Given the description of an element on the screen output the (x, y) to click on. 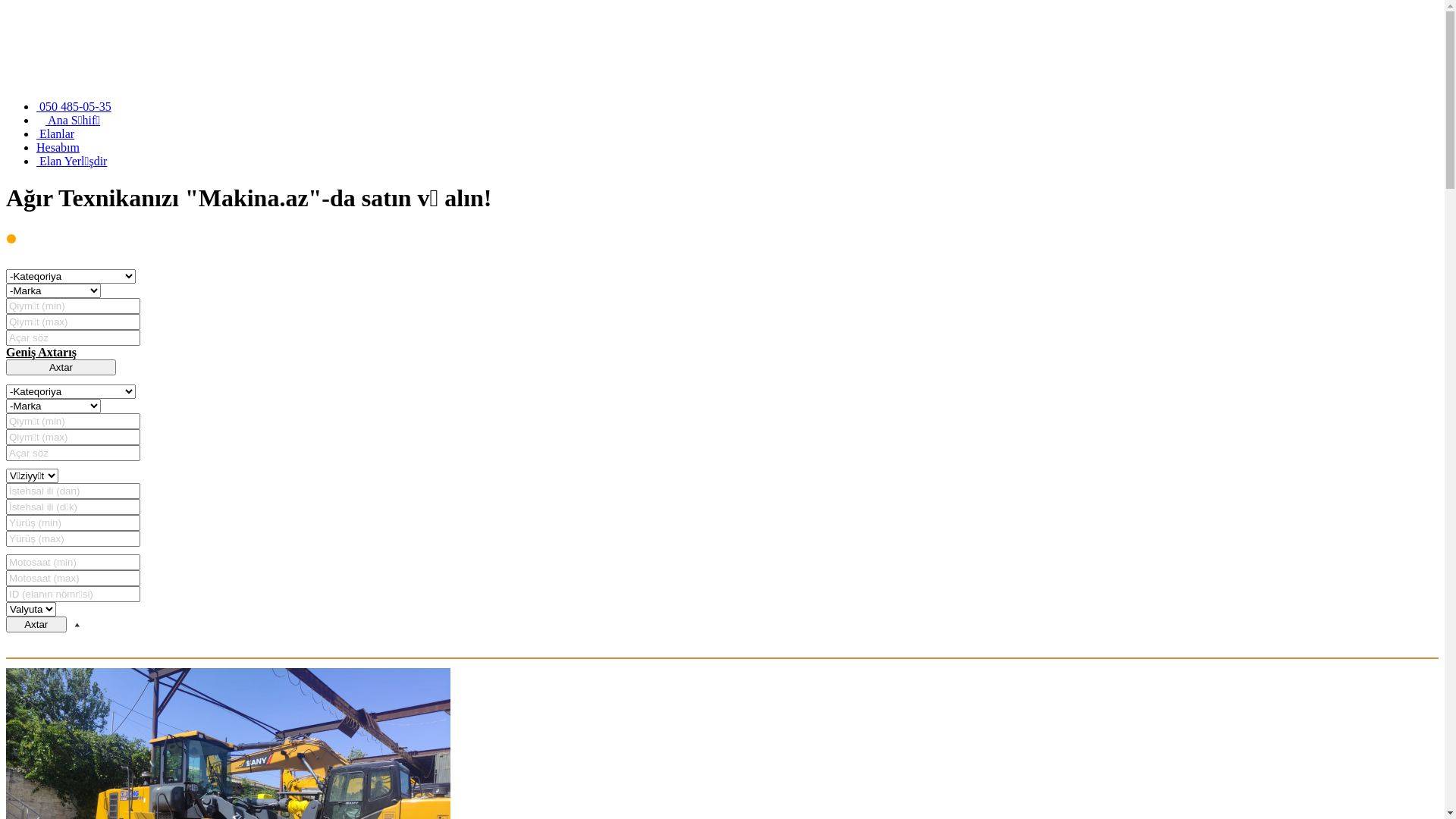
Elanlar Element type: text (55, 133)
Axtar Element type: text (61, 367)
Axtar Element type: text (36, 624)
050 485-05-35 Element type: text (73, 106)
